Given the description of an element on the screen output the (x, y) to click on. 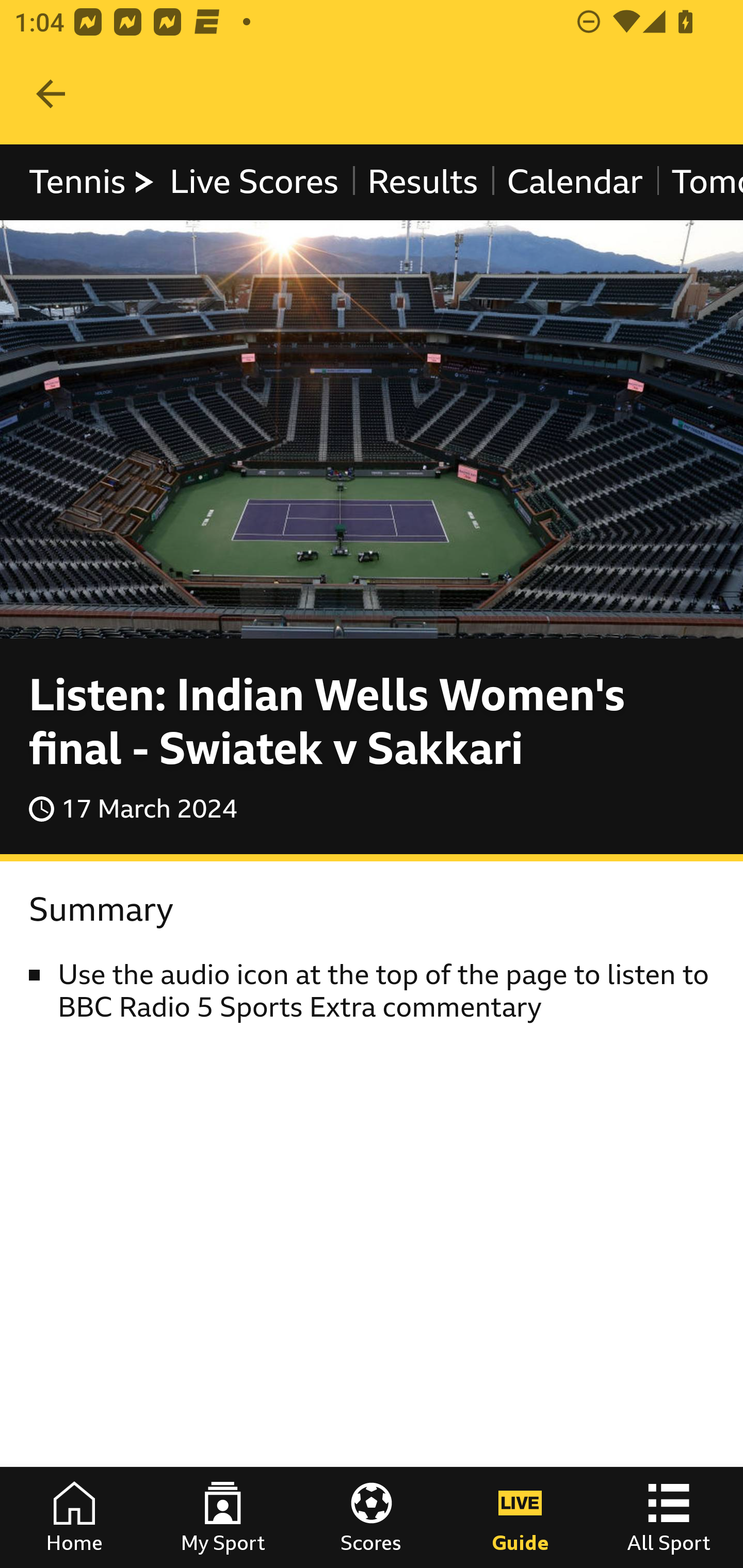
Navigate up (50, 93)
Tennis  (92, 181)
Live Scores (253, 181)
Results (422, 181)
Calendar (575, 181)
Tomorrow's Order of Play (699, 181)
Home (74, 1517)
My Sport (222, 1517)
Scores (371, 1517)
All Sport (668, 1517)
